Given the description of an element on the screen output the (x, y) to click on. 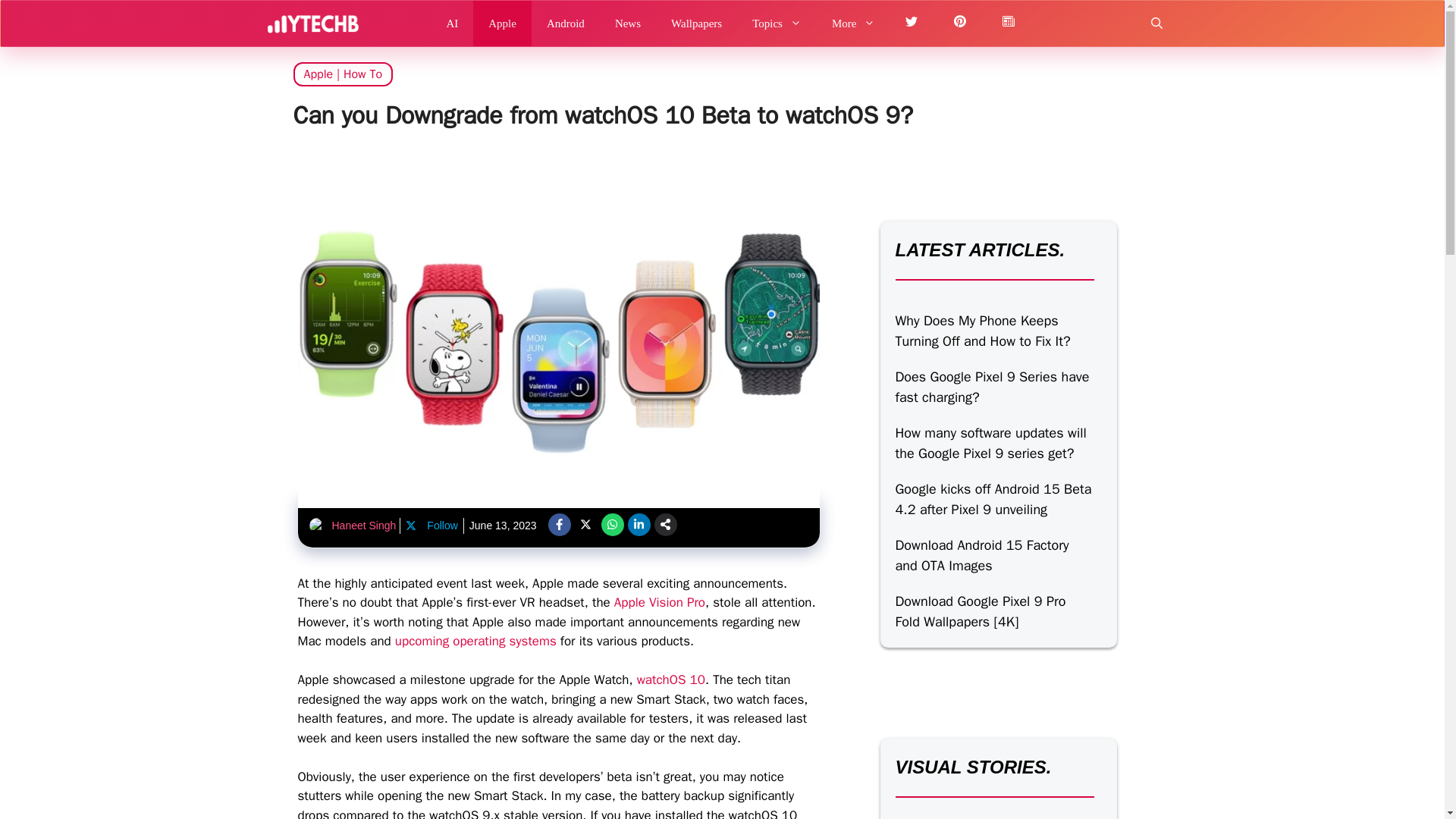
Follow (430, 525)
How To (362, 73)
News (627, 22)
Apple (317, 73)
Apple (502, 22)
YTECHB (312, 22)
More (853, 22)
AI (451, 22)
Android (565, 22)
Wallpapers (696, 22)
